Given the description of an element on the screen output the (x, y) to click on. 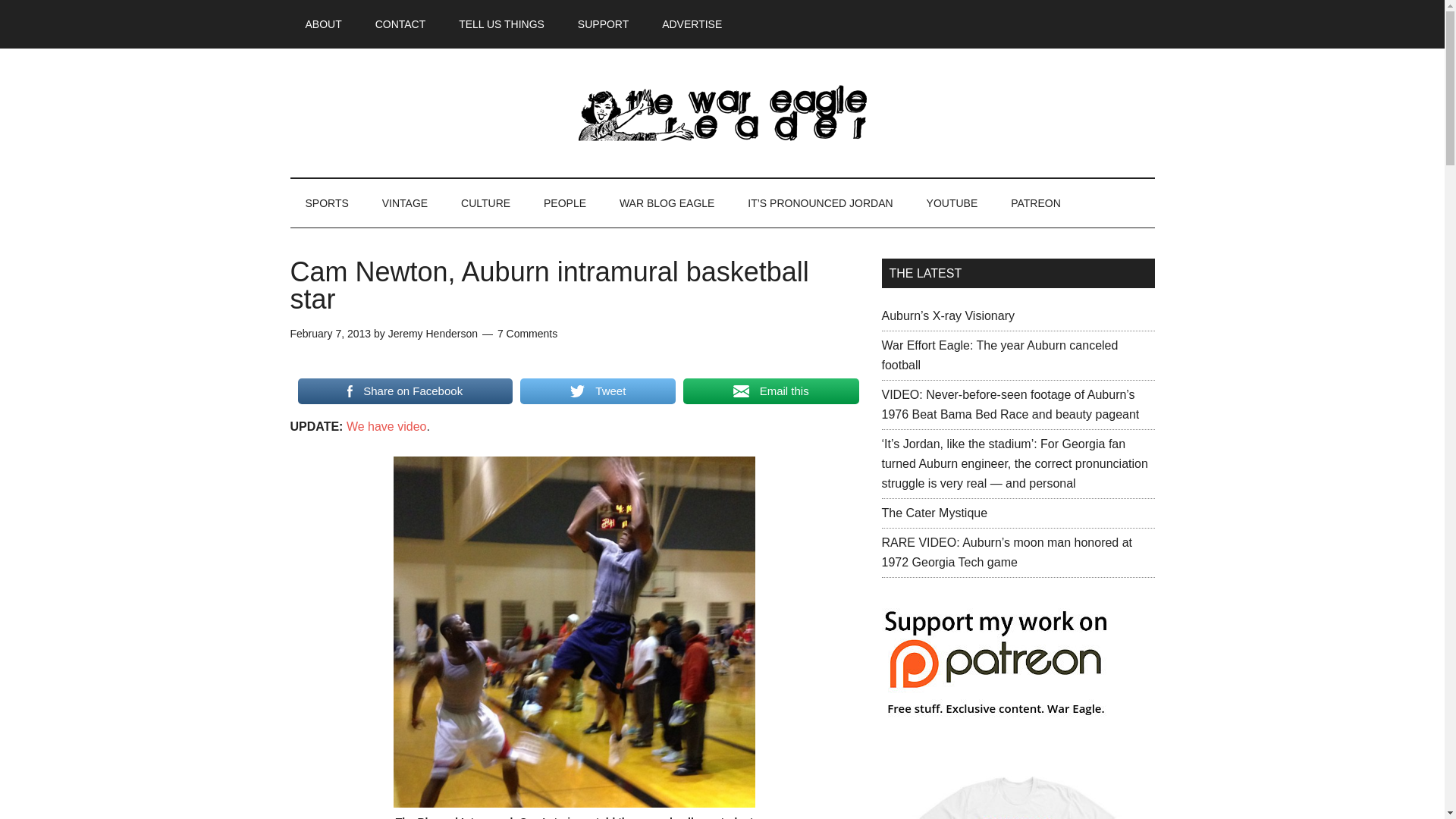
ABOUT (322, 24)
TELL US THINGS (501, 24)
WAR BLOG EAGLE (667, 203)
The War Eagle Reader (721, 112)
SPORTS (325, 203)
We have video (386, 426)
Email this (770, 390)
CONTACT (400, 24)
PATREON (1035, 203)
VINTAGE (404, 203)
